Given the description of an element on the screen output the (x, y) to click on. 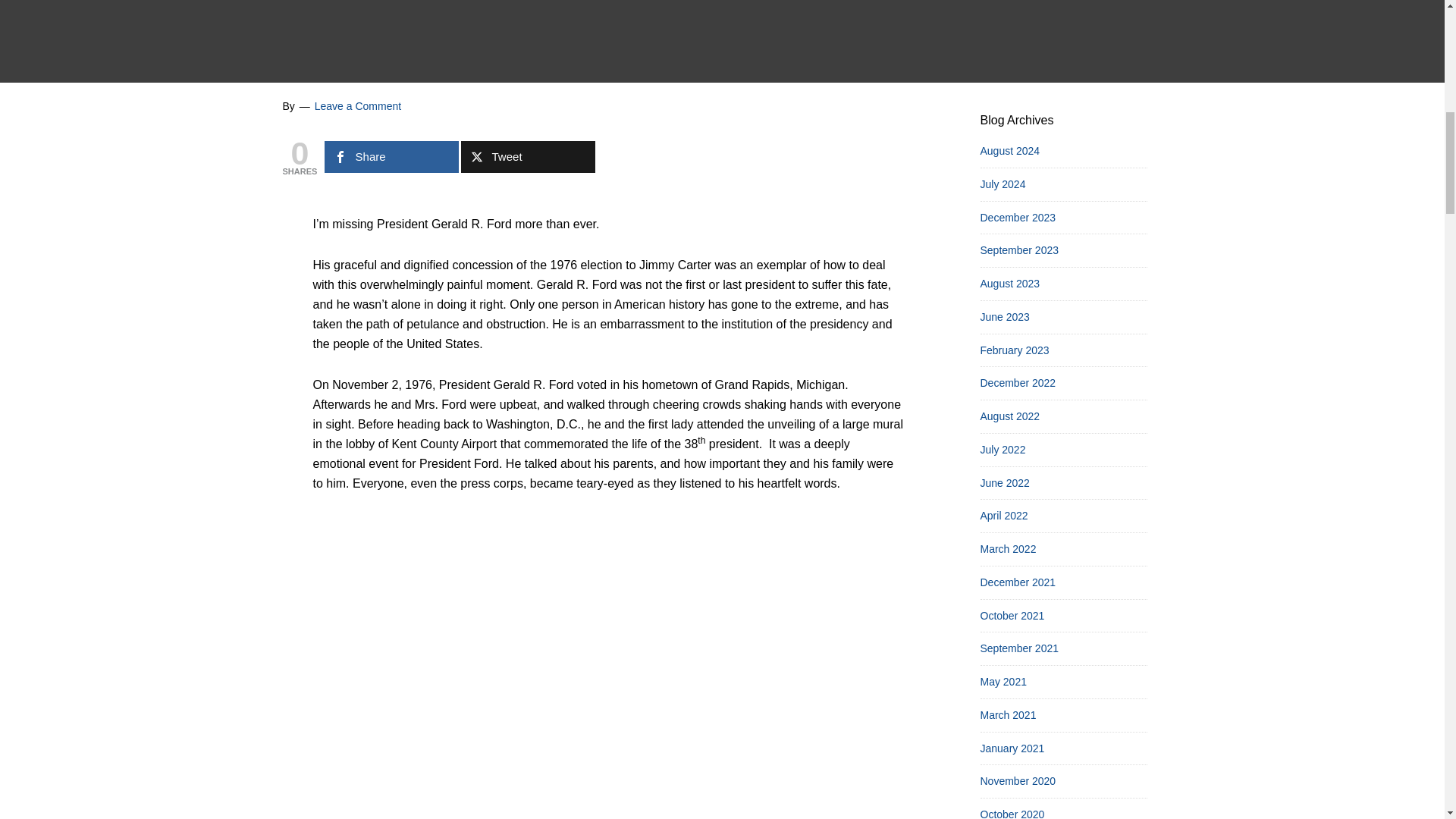
Share (391, 156)
December 2023 (1017, 216)
Tweet (528, 156)
Leave a Comment (357, 105)
August 2024 (1009, 150)
September 2023 (1018, 250)
July 2024 (1002, 184)
